Given the description of an element on the screen output the (x, y) to click on. 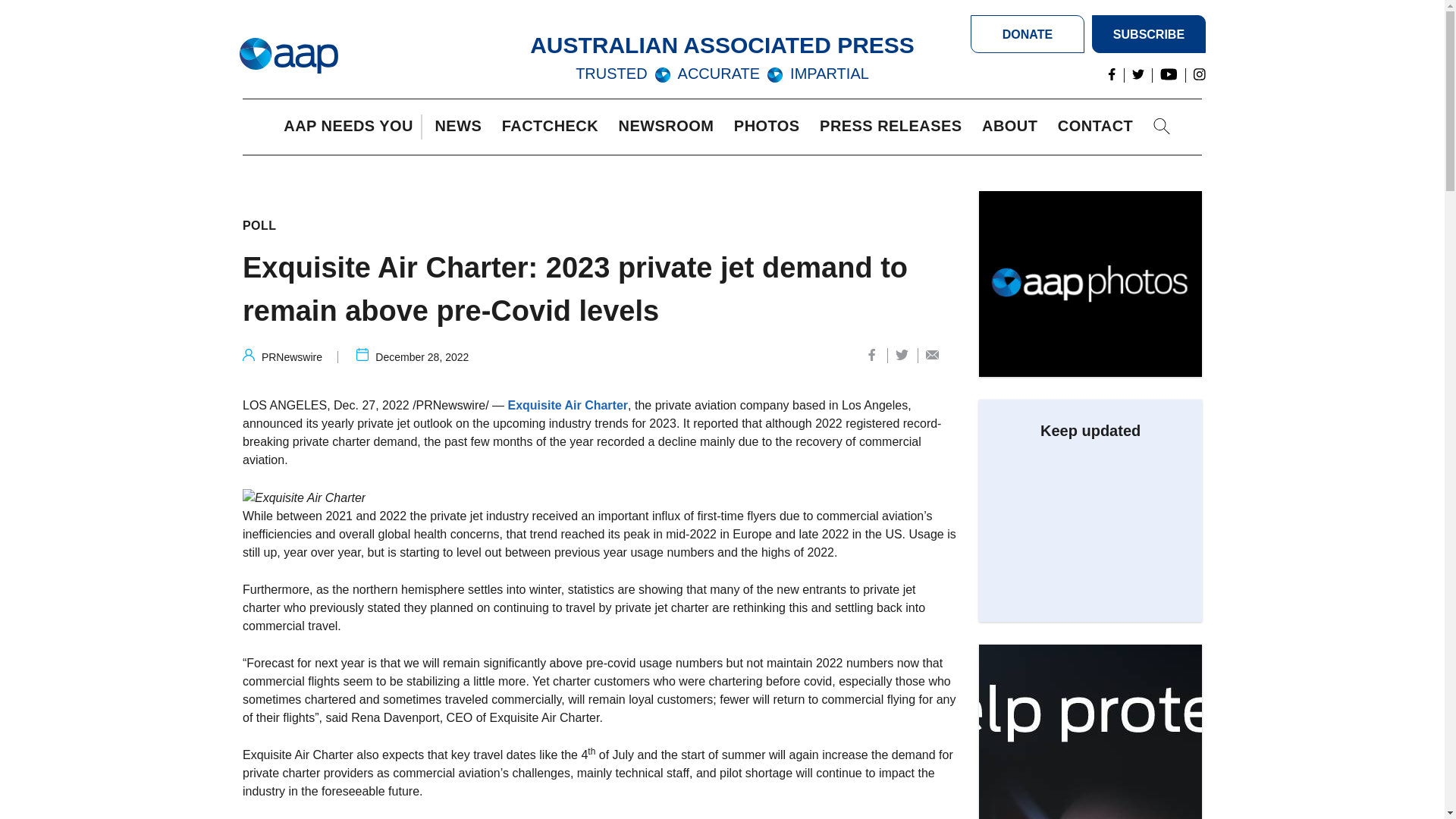
FACTCHECK (553, 126)
Exquisite Air Charter (304, 497)
ABOUT (1013, 126)
CONTACT (1099, 126)
DONATE (1027, 34)
SUBSCRIBE (1148, 34)
Form 0 (1090, 525)
AUSTRALIAN ASSOCIATED PRESS (721, 44)
NEWSROOM (670, 126)
Home (288, 56)
PHOTOS (770, 126)
PRESS RELEASES (894, 126)
AAP NEEDS YOU (351, 126)
NEWS (461, 126)
